Given the description of an element on the screen output the (x, y) to click on. 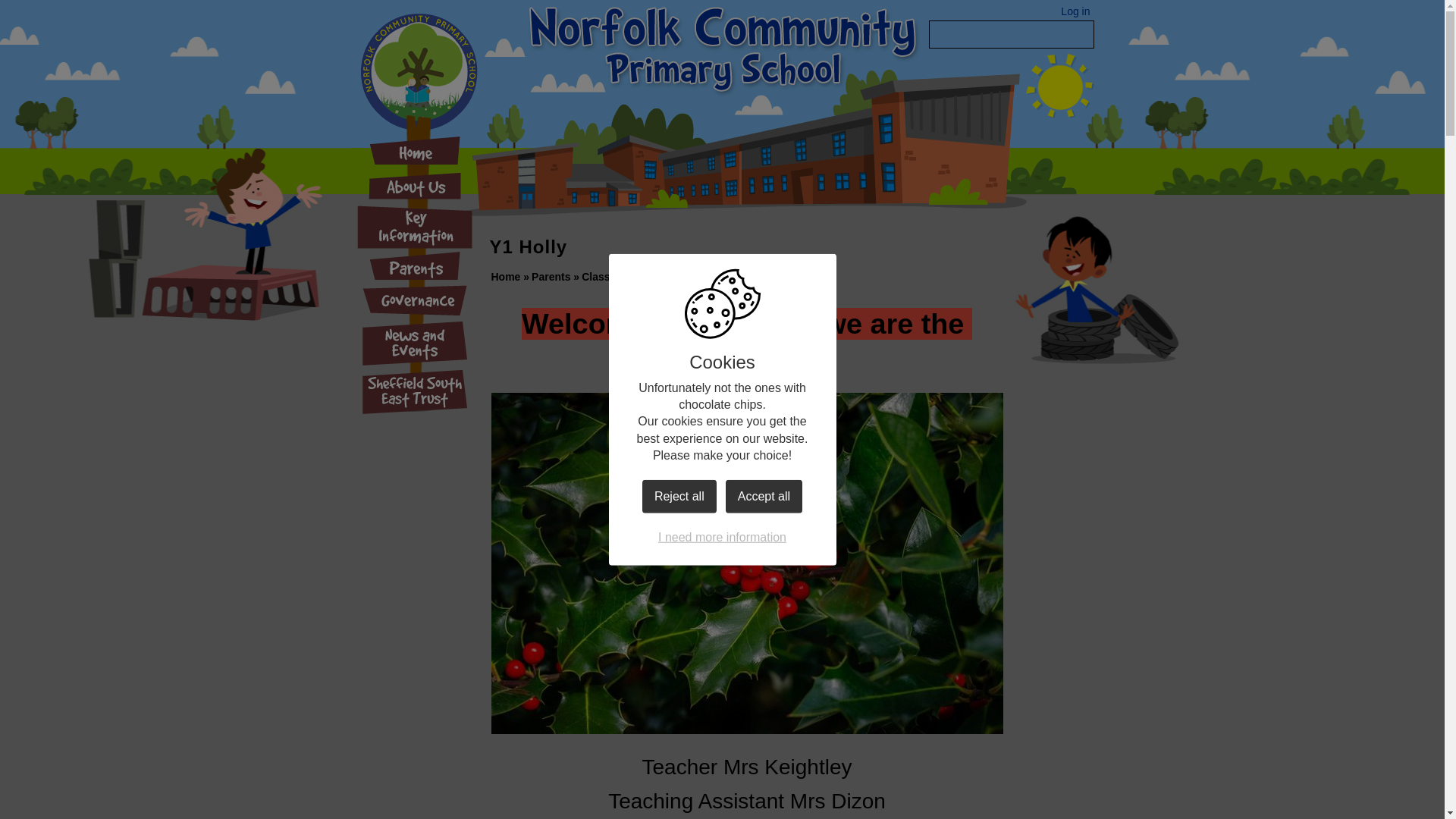
Home (506, 276)
Parents (550, 276)
Class Pages (612, 276)
Log in (1075, 11)
Home Page (635, 54)
Y1 Holly (676, 276)
About Us (413, 187)
Home Page (635, 54)
Home (413, 153)
Key Information (413, 227)
